Given the description of an element on the screen output the (x, y) to click on. 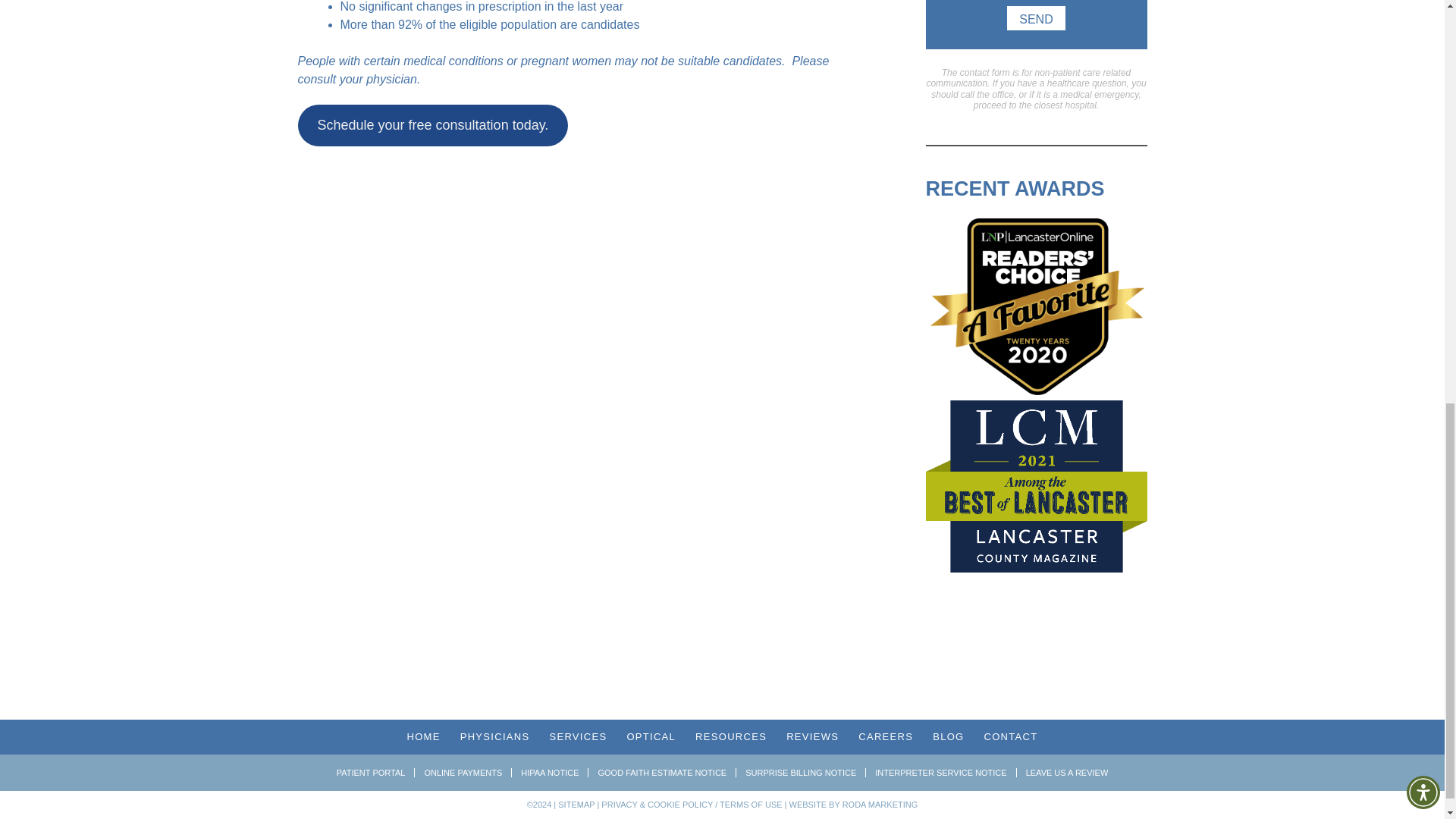
GOOD FAITH ESTIMATE NOTICE (662, 772)
ONLINE PAYMENTS (463, 772)
OPTICAL (650, 736)
SERVICES (577, 736)
LEAVE US A REVIEW (1067, 772)
Send (1035, 17)
PHYSICIANS (494, 736)
BLOG (948, 736)
CONTACT (1011, 736)
HOME (422, 736)
